Given the description of an element on the screen output the (x, y) to click on. 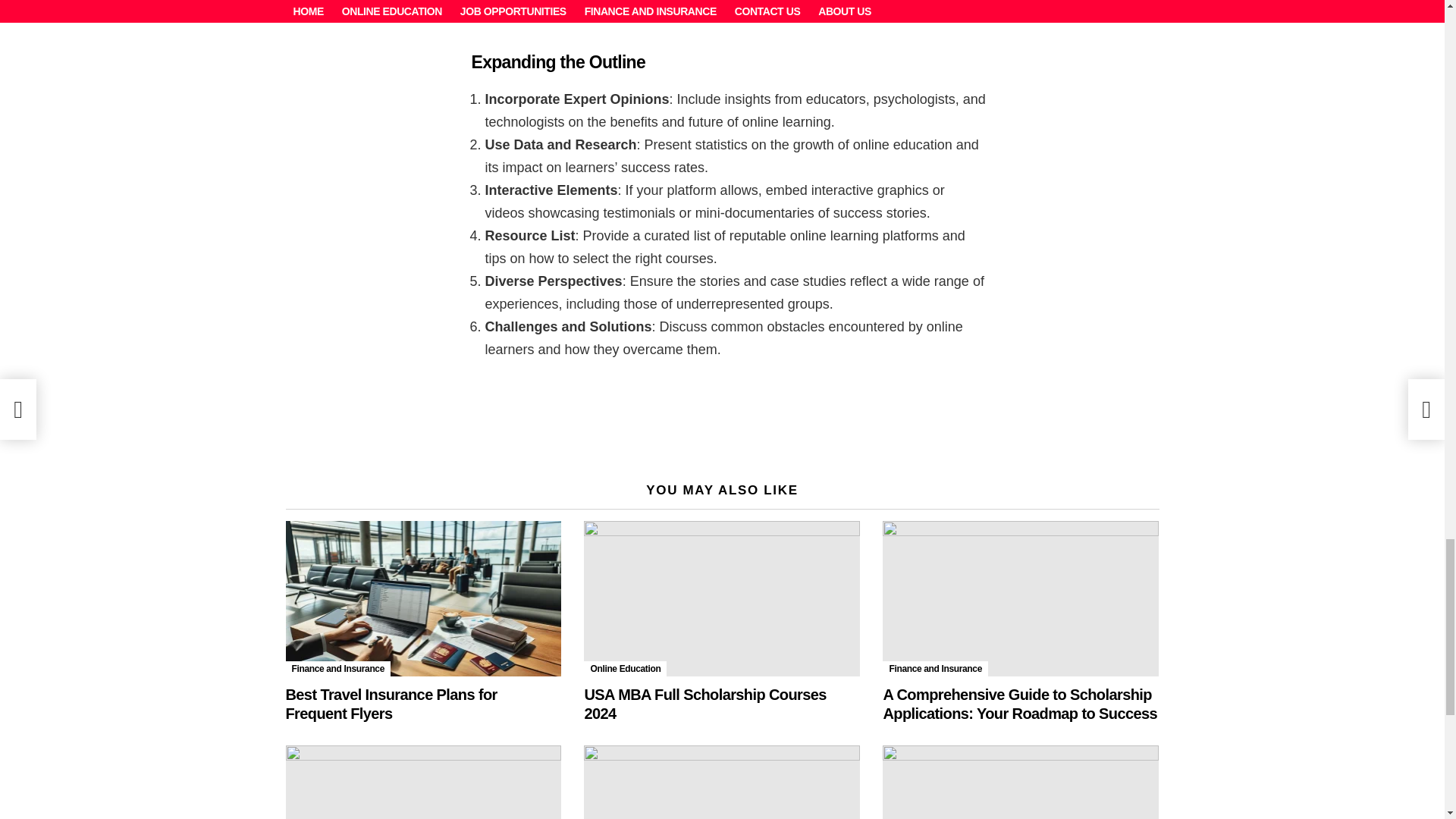
Finance and Insurance (337, 668)
Best Travel Insurance Plans for Frequent Flyers (390, 703)
Online Education (624, 668)
USA MBA Full Scholarship Courses 2024 (721, 598)
Mastering the Art of Balancing Scholarships and Loans (721, 782)
Best Travel Insurance Plans for Frequent Flyers (422, 598)
